Given the description of an element on the screen output the (x, y) to click on. 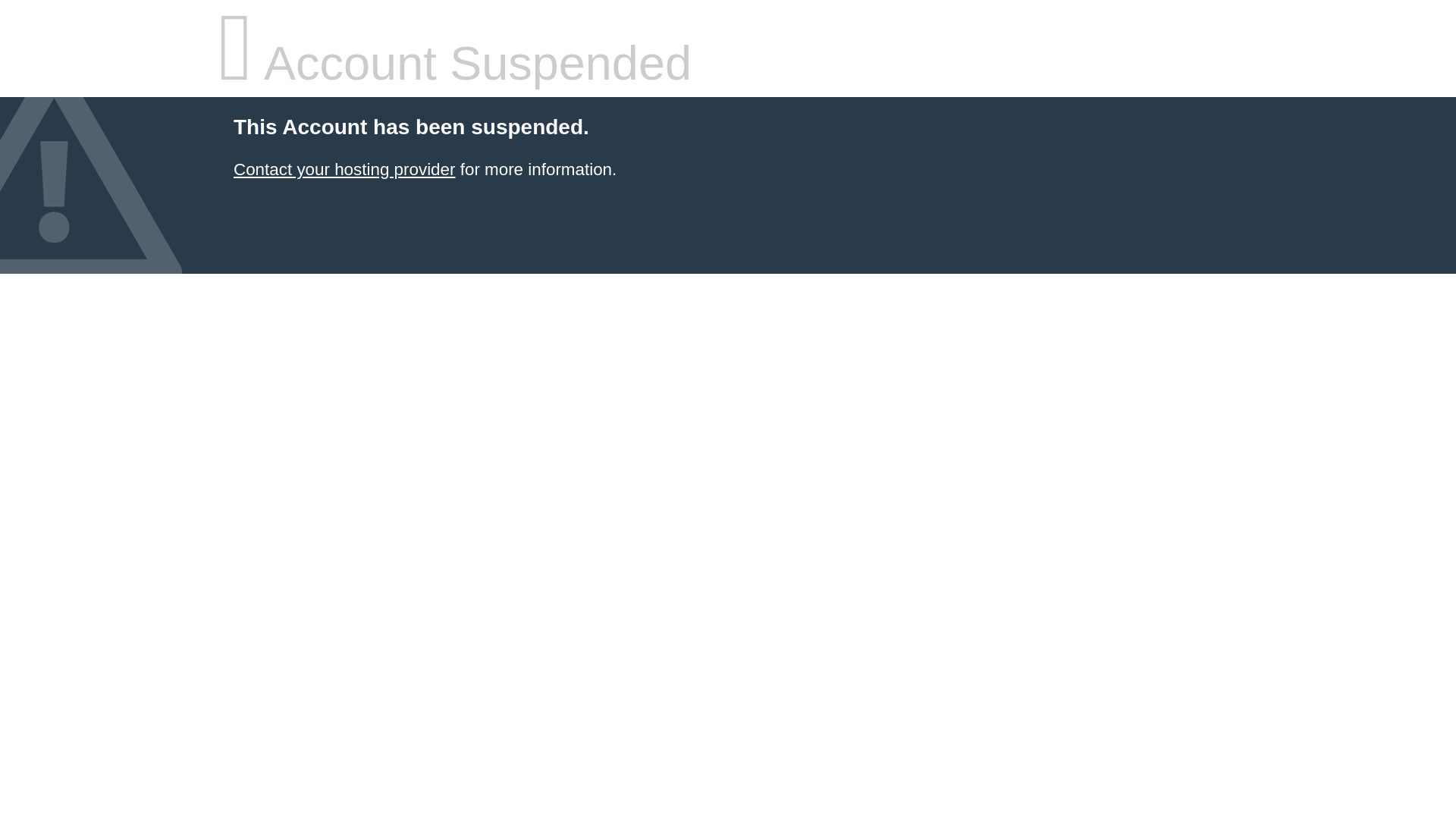
Contact your hosting provider Element type: text (344, 169)
